Given the description of an element on the screen output the (x, y) to click on. 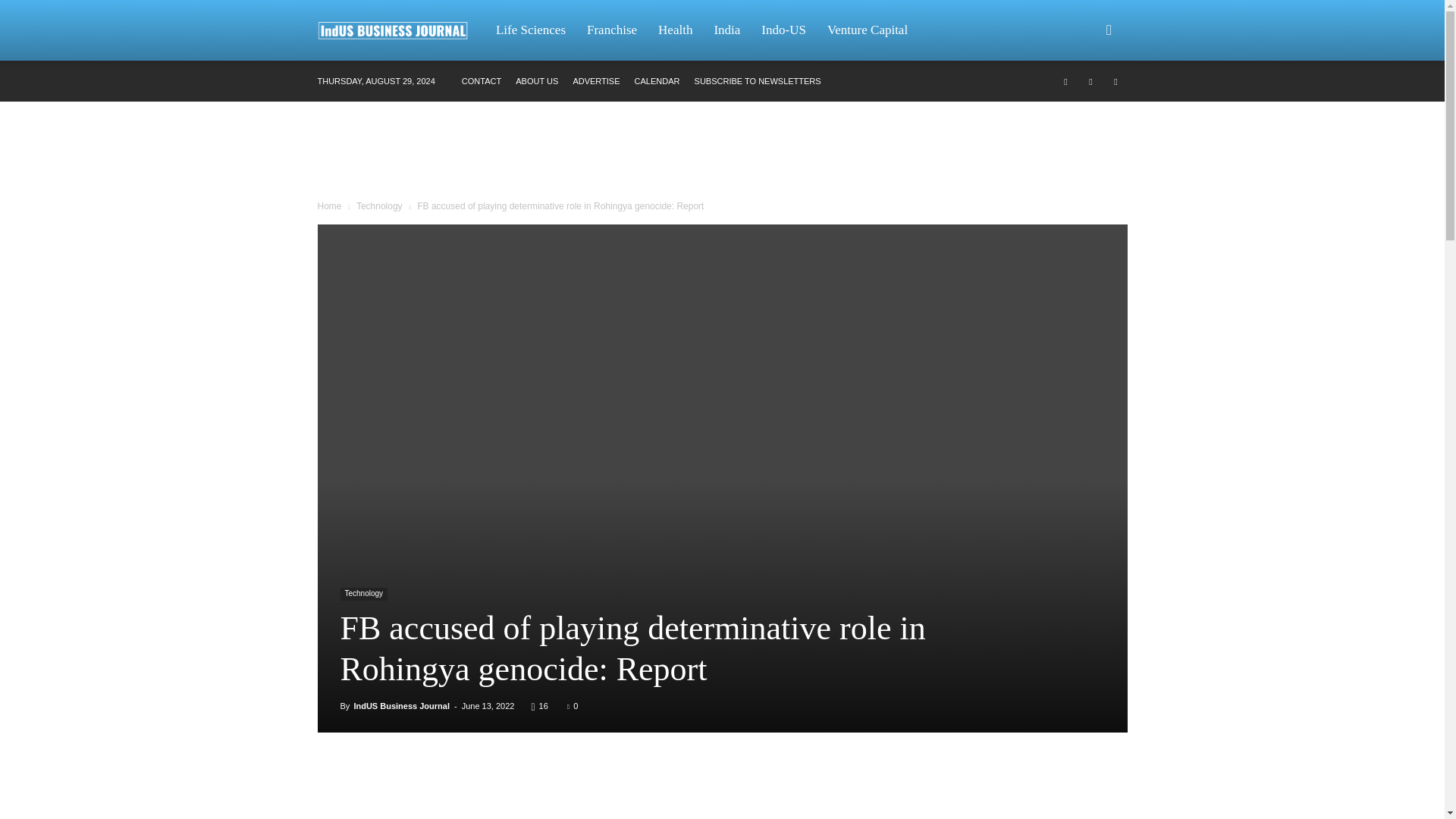
View all posts in Technology (379, 205)
Life Sciences (530, 30)
ADVERTISE (596, 80)
IndUS Business Journal (401, 705)
Home (328, 205)
Technology (363, 594)
0 (572, 705)
Venture Capital (867, 30)
Franchise (611, 30)
Advertisement (721, 153)
